Given the description of an element on the screen output the (x, y) to click on. 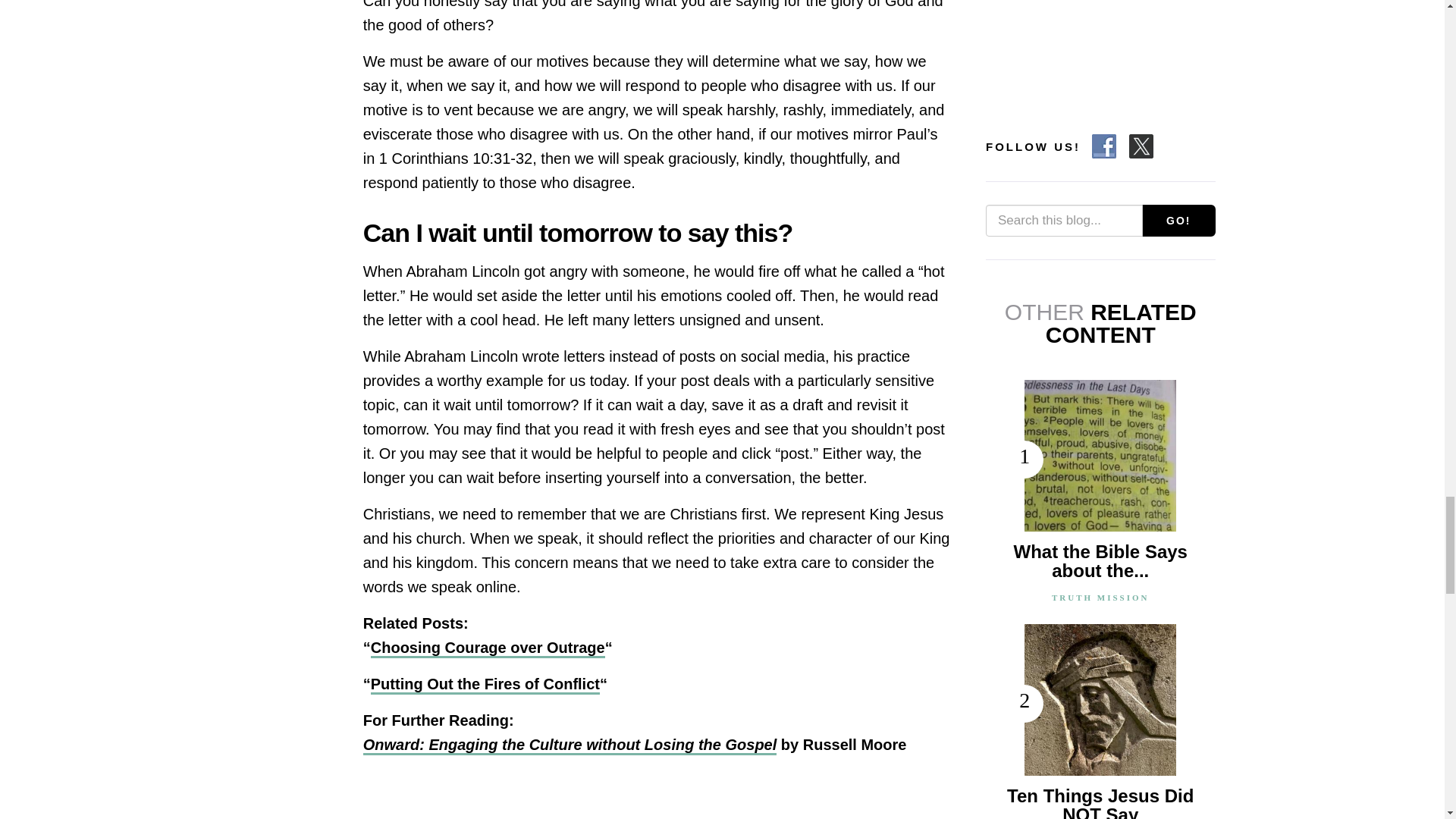
Follow Us on Twitter (1141, 146)
Follow Us on Facebook (1104, 146)
Go! (1177, 220)
